Given the description of an element on the screen output the (x, y) to click on. 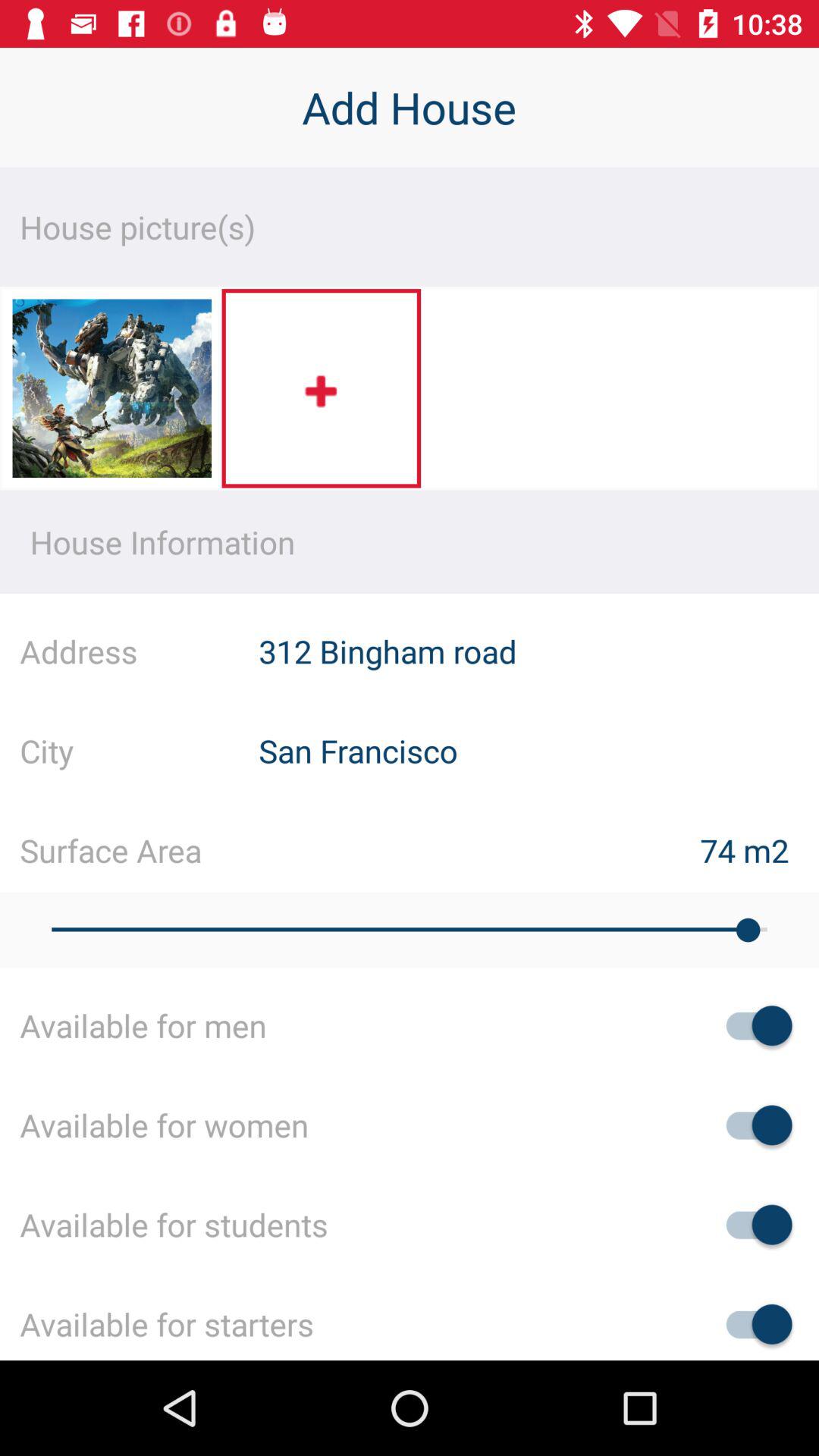
toggle available for students on (751, 1224)
